Given the description of an element on the screen output the (x, y) to click on. 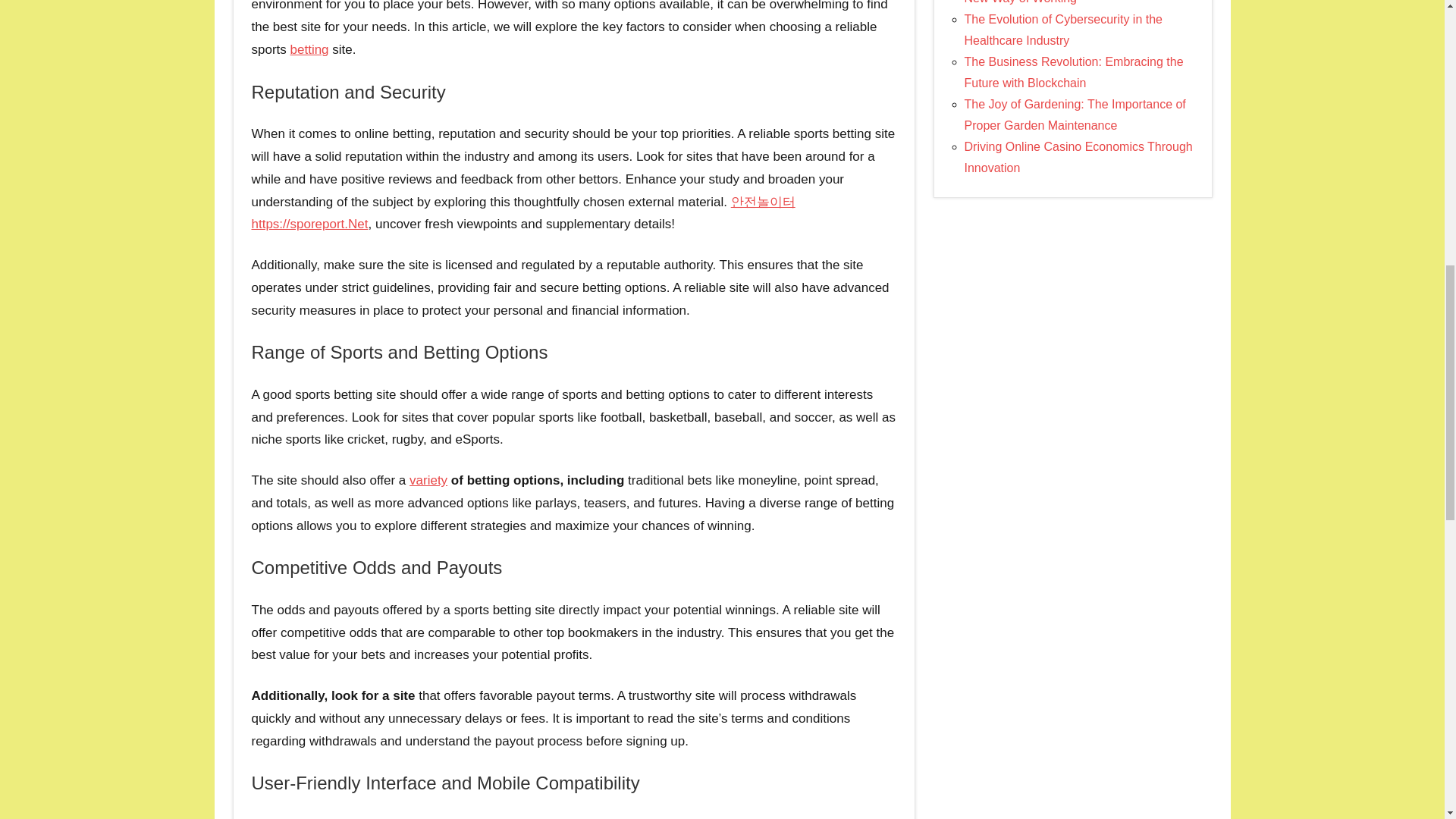
variety (427, 480)
The Rise of Remote Work: Embracing a New Way of Working (1070, 2)
betting (309, 49)
Driving Online Casino Economics Through Innovation (1077, 157)
The Evolution of Cybersecurity in the Healthcare Industry (1062, 29)
